Given the description of an element on the screen output the (x, y) to click on. 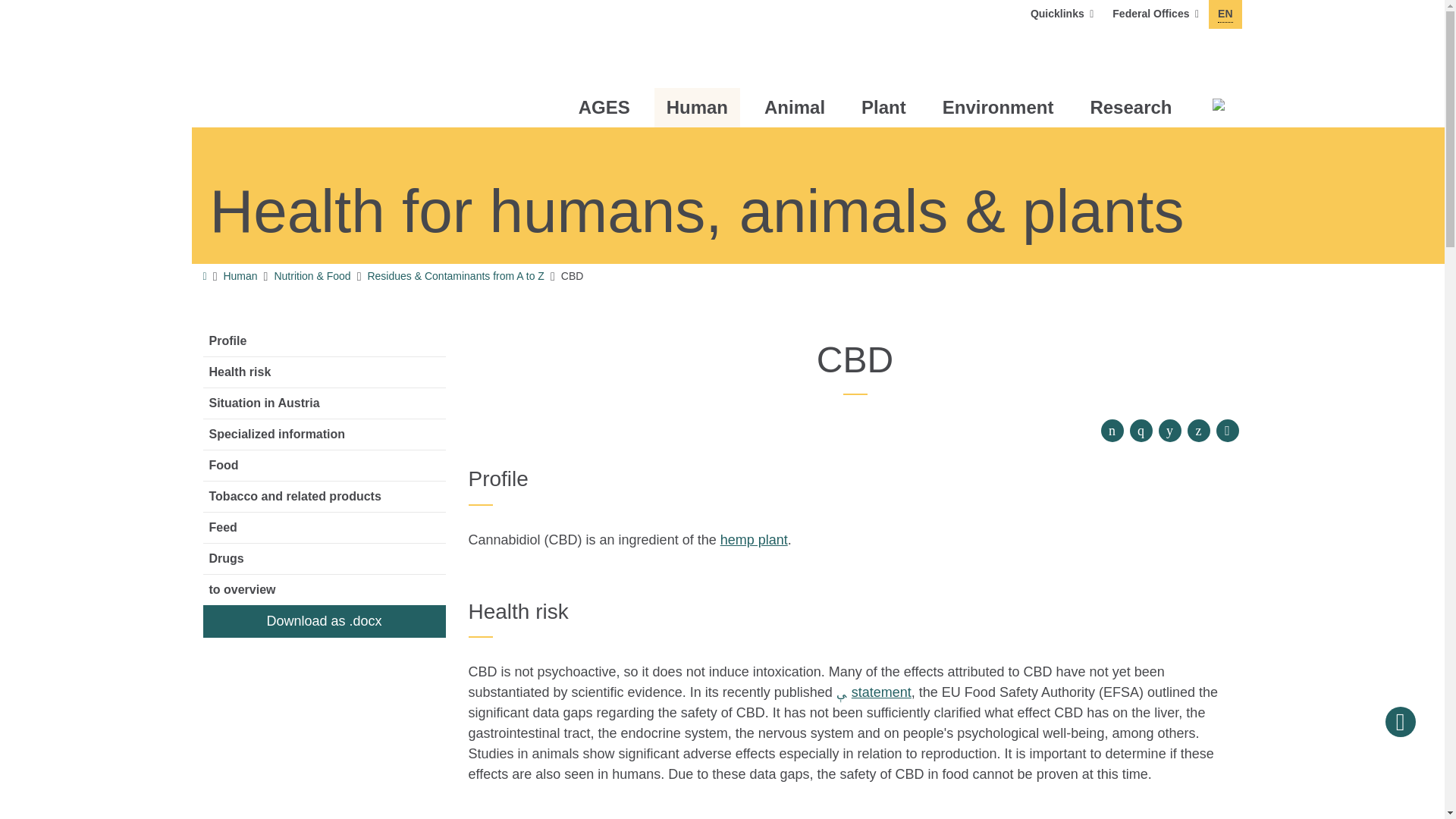
Mensch (1227, 430)
AGES Home (305, 63)
EFSA (1155, 13)
Futtermittel (1224, 14)
Ackerbau (1062, 13)
Kosmetik (873, 692)
